Given the description of an element on the screen output the (x, y) to click on. 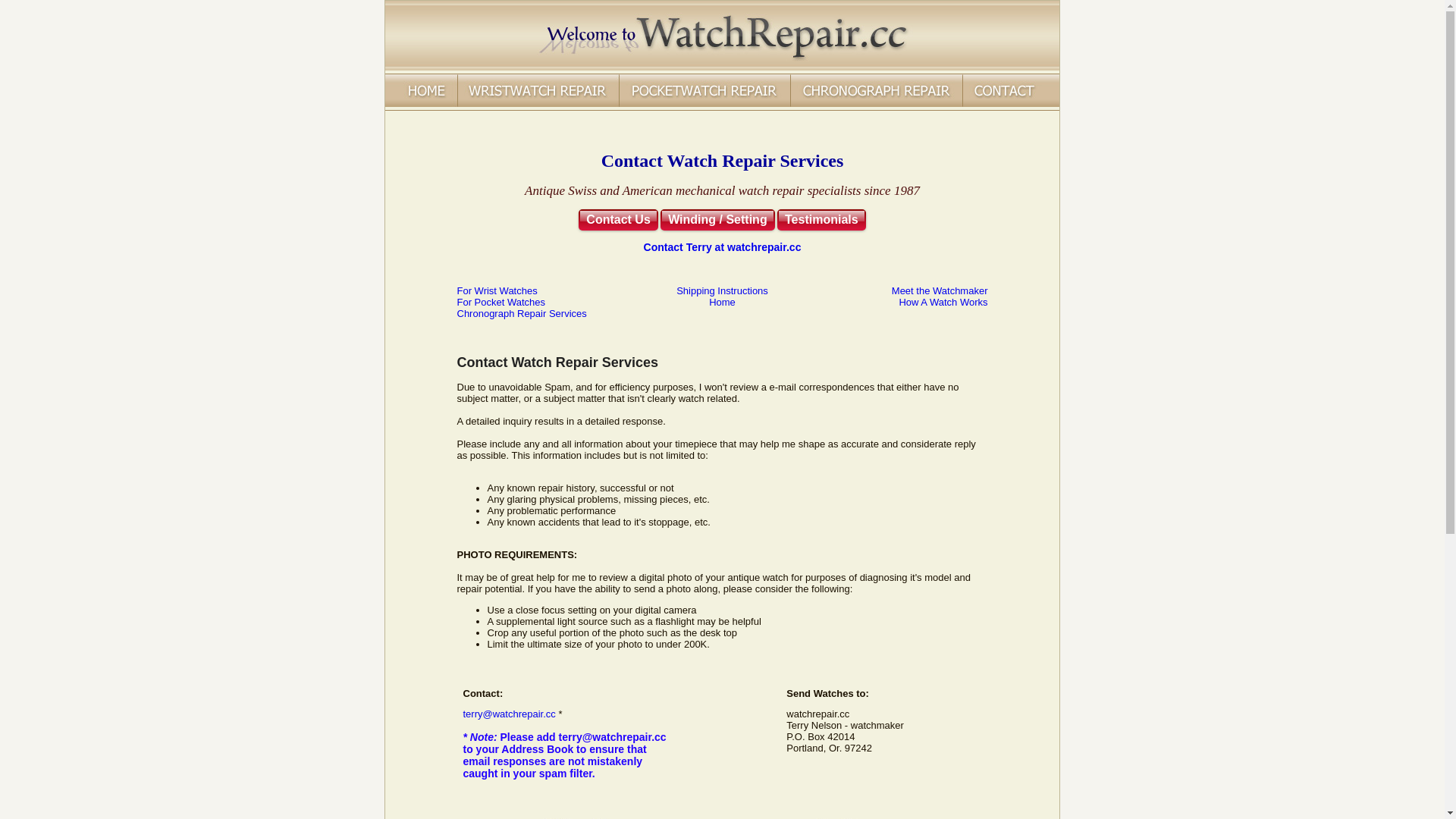
Contact Terry at watchrepair.cc Element type: text (722, 247)
How A Watch Works Element type: text (942, 301)
Shipping Instructions Element type: text (722, 290)
For Pocket Watches Element type: text (500, 301)
Chronograph Repair Services Element type: text (521, 313)
terry@watchrepair.cc Element type: text (508, 713)
Meet the Watchmaker Element type: text (939, 290)
Contact Us Element type: text (617, 219)
Contact for Antique Watch Repair Services Element type: hover (1011, 91)
Antique Pocket Watch Repair Element type: hover (704, 91)
Testimonials Element type: text (821, 219)
Antique Watch Repair Element type: hover (421, 91)
Winding / Setting Element type: text (717, 219)
For Wrist Watches Element type: text (496, 290)
WatchRepair.cc Element type: hover (722, 66)
Antique Chronograph Repair Element type: hover (876, 91)
Antique Wrist Watch Repair Element type: hover (538, 91)
Home Element type: text (722, 301)
